Given the description of an element on the screen output the (x, y) to click on. 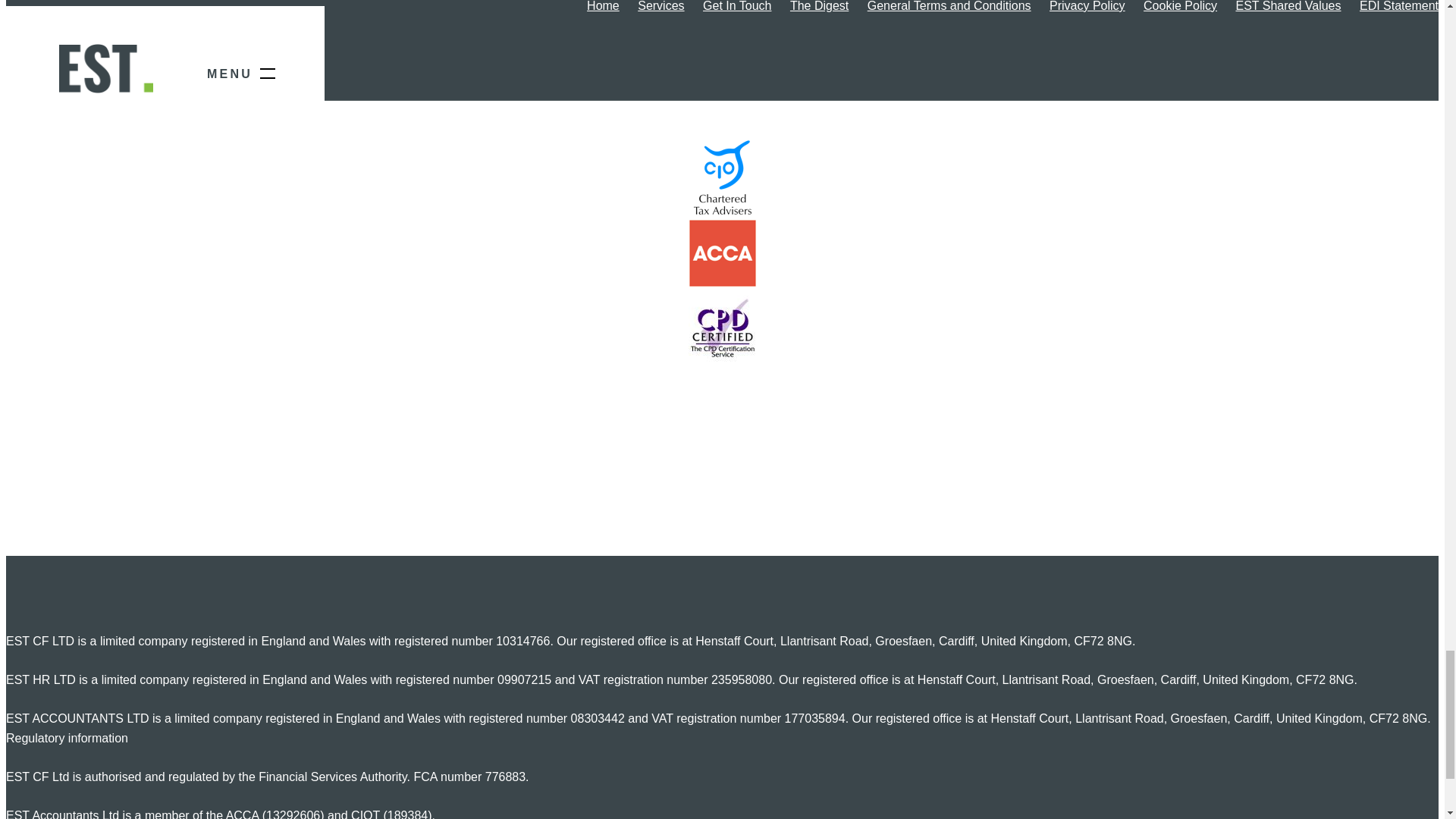
General Terms and Conditions (948, 6)
Privacy Policy (1087, 6)
The Digest (819, 6)
Home (603, 6)
Services (660, 6)
Cookie Policy (1179, 6)
EST Shared Values (1287, 6)
Get In Touch (737, 6)
